Given the description of an element on the screen output the (x, y) to click on. 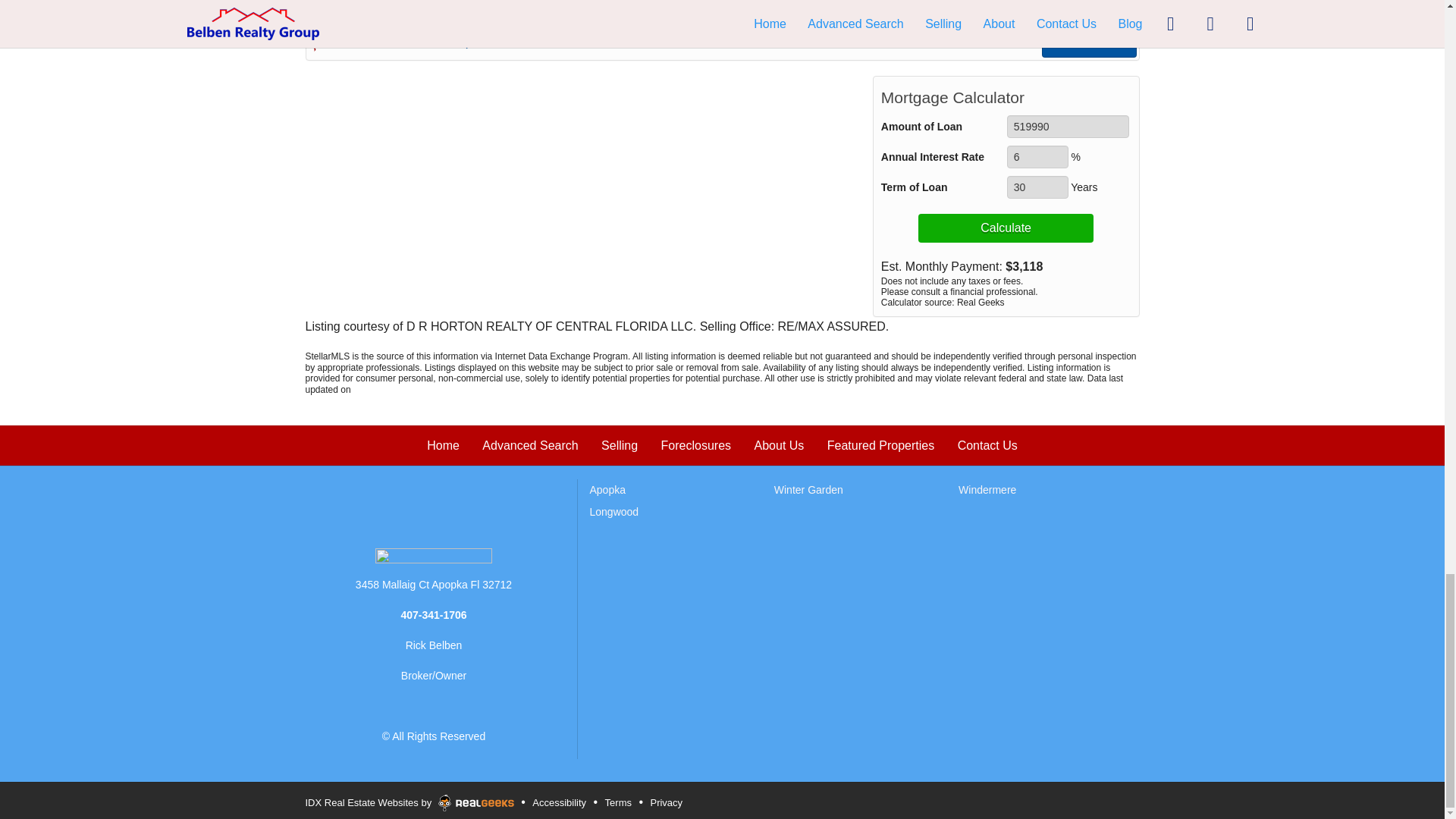
30 (1037, 187)
6 (1037, 156)
519990 (1068, 126)
